Given the description of an element on the screen output the (x, y) to click on. 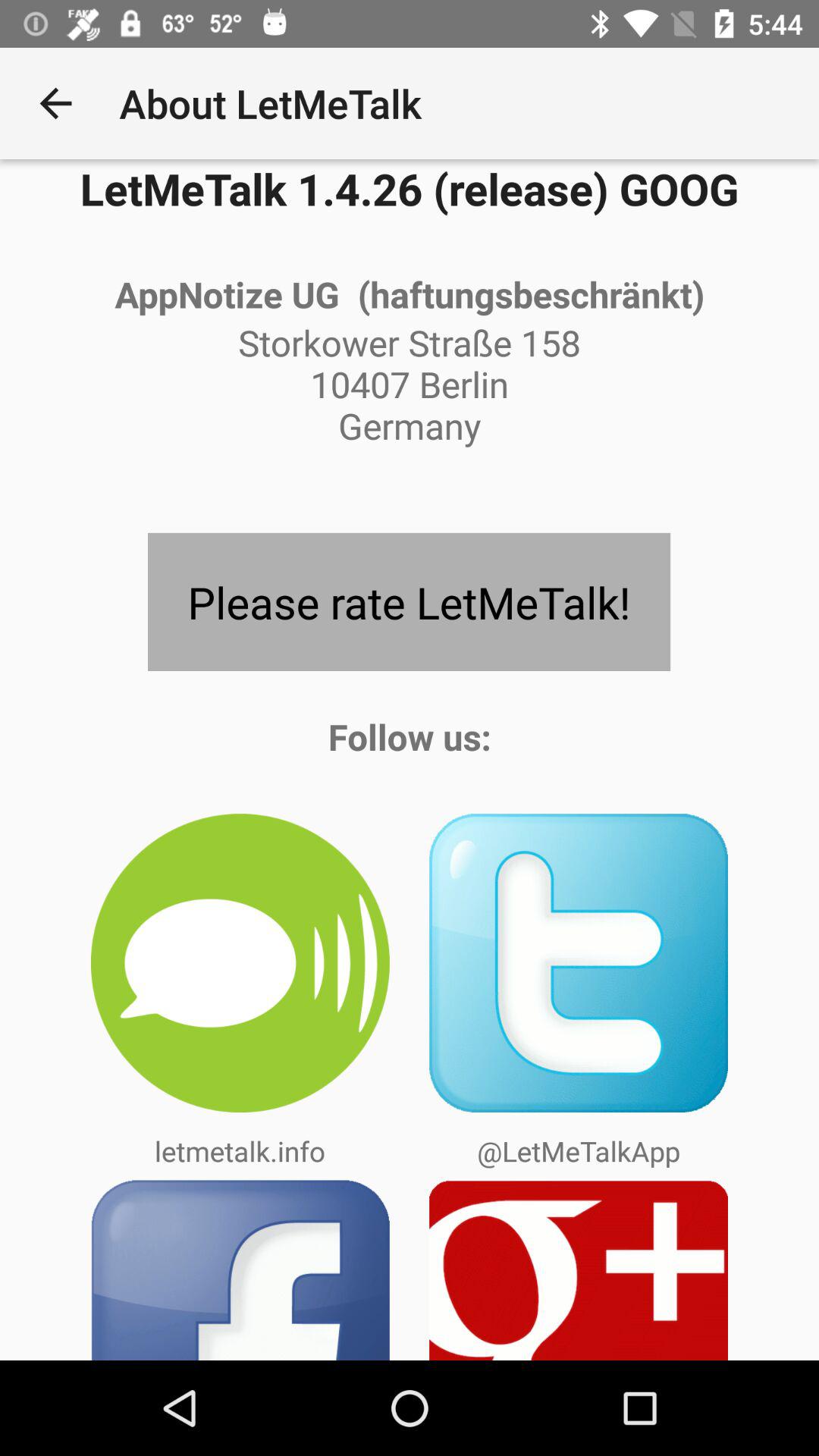
press icon below @letmetalkapp item (578, 1269)
